Given the description of an element on the screen output the (x, y) to click on. 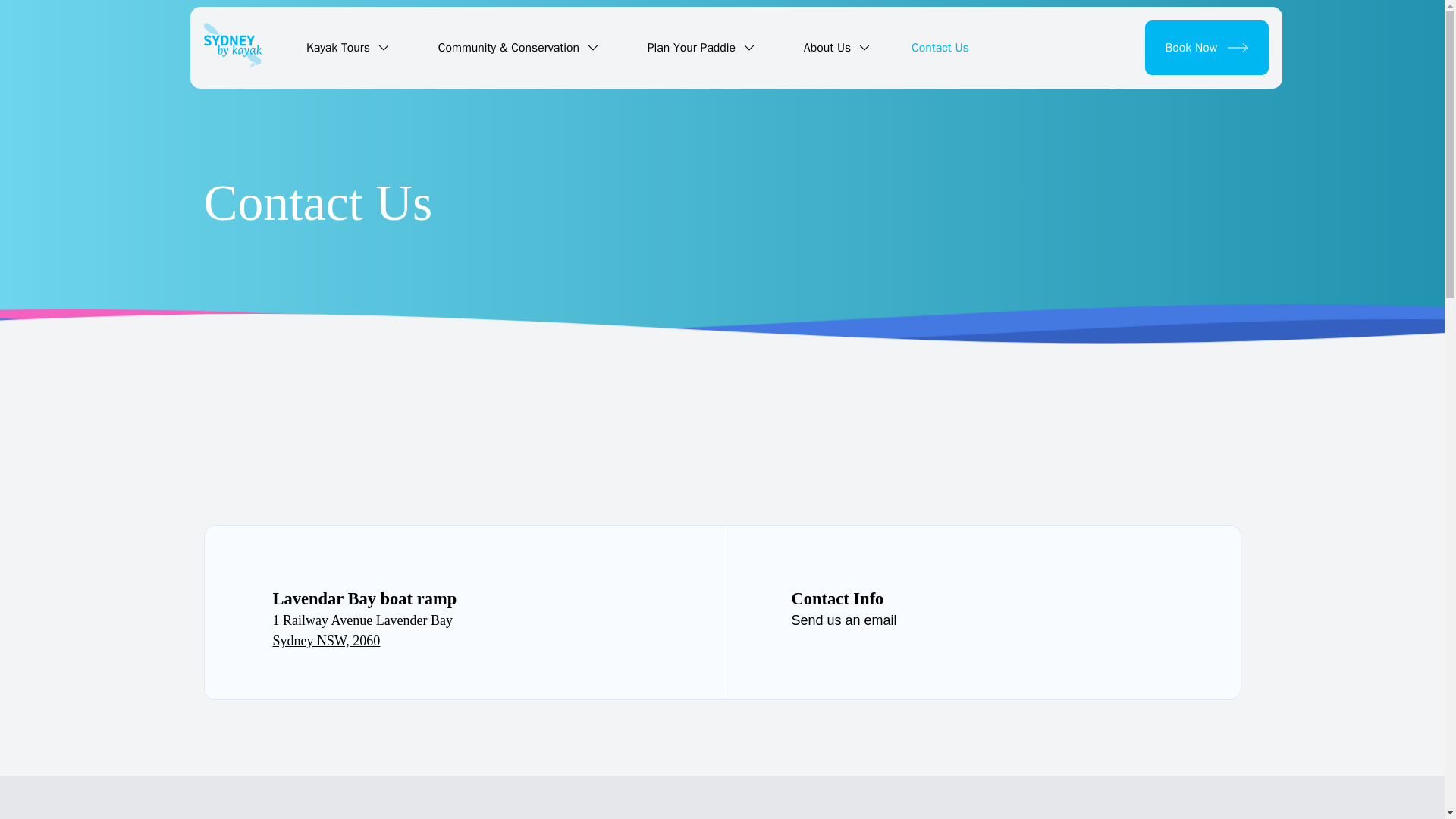
Contact Us (939, 47)
Book Now (1206, 47)
Plan Your Paddle (700, 47)
Kayak Tours (347, 47)
About Us (836, 47)
